Given the description of an element on the screen output the (x, y) to click on. 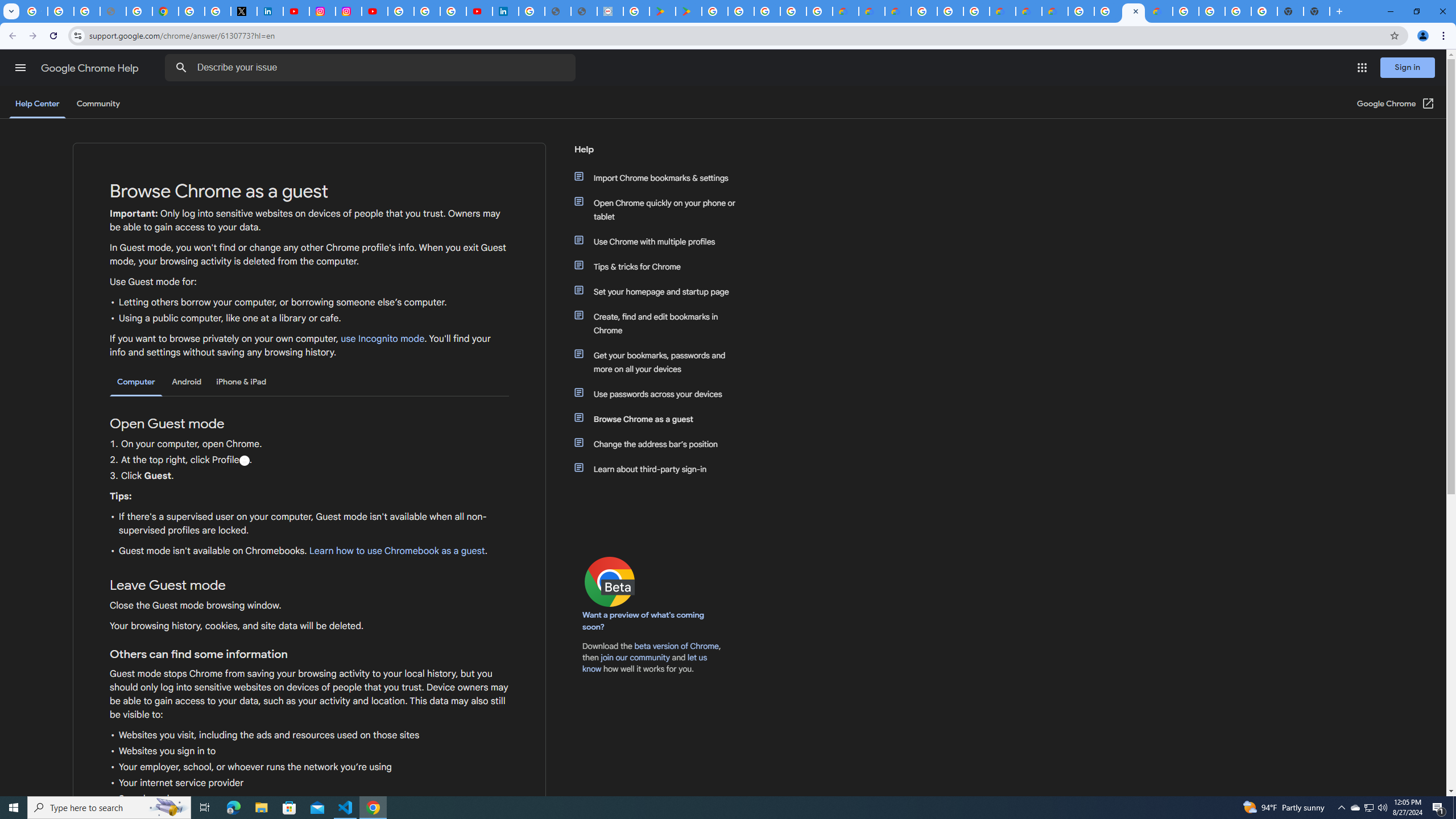
Create, find and edit bookmarks in Chrome (661, 323)
Use Chrome with multiple profiles (661, 241)
Profile (243, 460)
Get your bookmarks, passwords and more on all your devices (661, 362)
Help Center (36, 103)
Google Cloud Platform (923, 11)
iPhone & iPad (240, 381)
Customer Care | Google Cloud (845, 11)
